Given the description of an element on the screen output the (x, y) to click on. 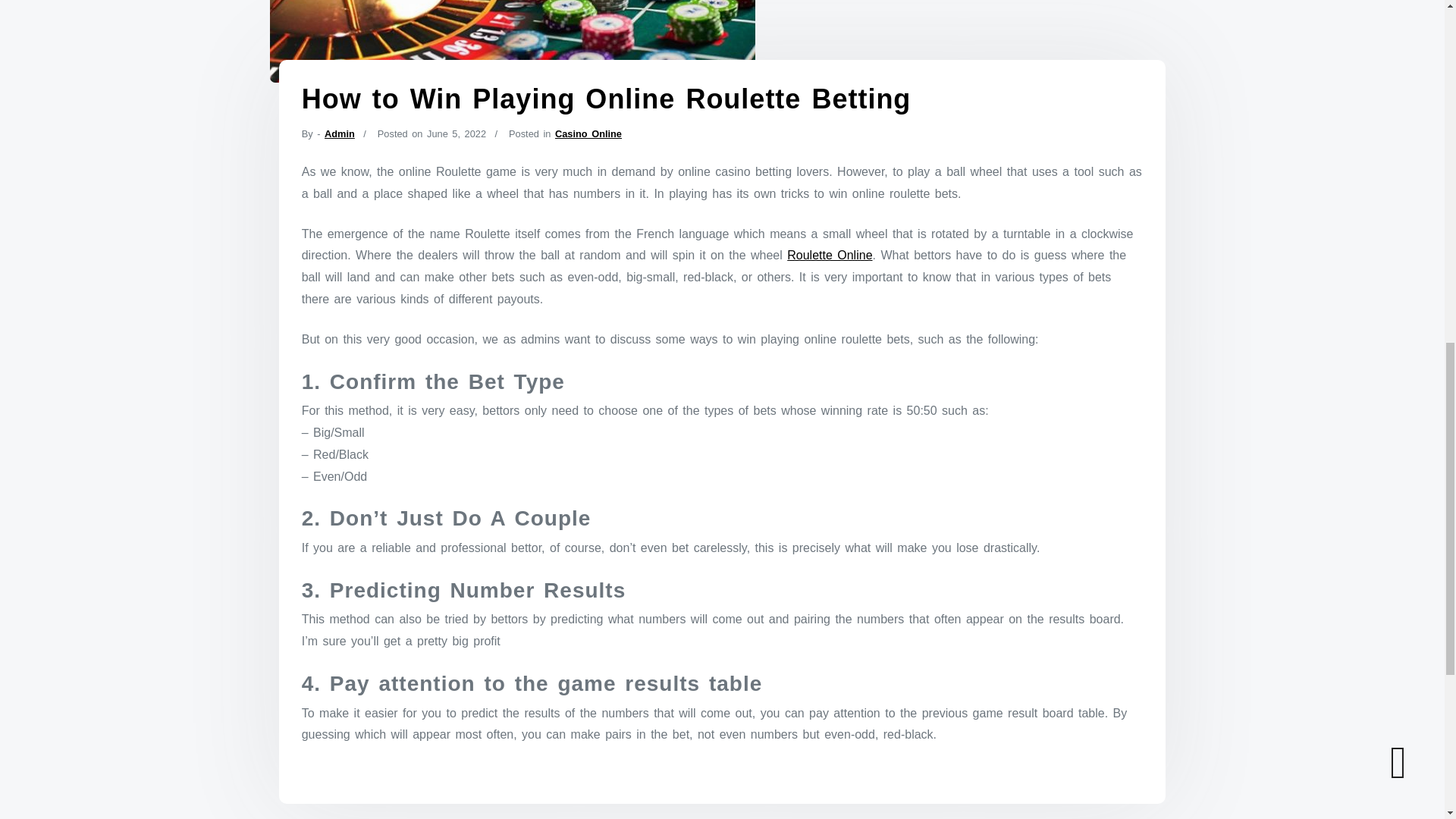
Roulette Online (829, 254)
Casino Online (587, 133)
Admin (339, 133)
